Given the description of an element on the screen output the (x, y) to click on. 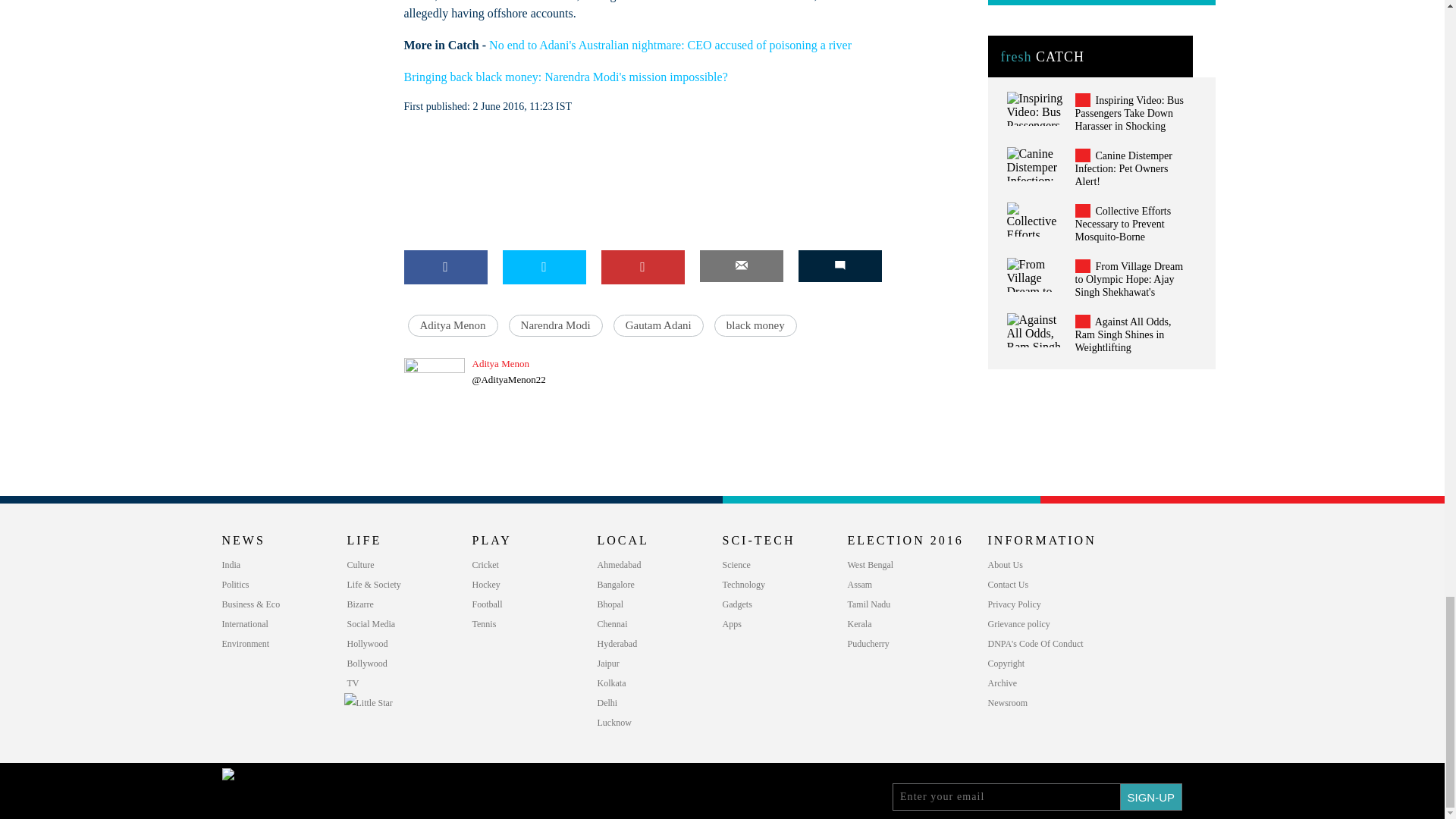
Aditya Menon (452, 325)
Gautam Adani (657, 325)
Narendra Modi (555, 325)
black money (755, 325)
SIGN-UP (1150, 796)
